Given the description of an element on the screen output the (x, y) to click on. 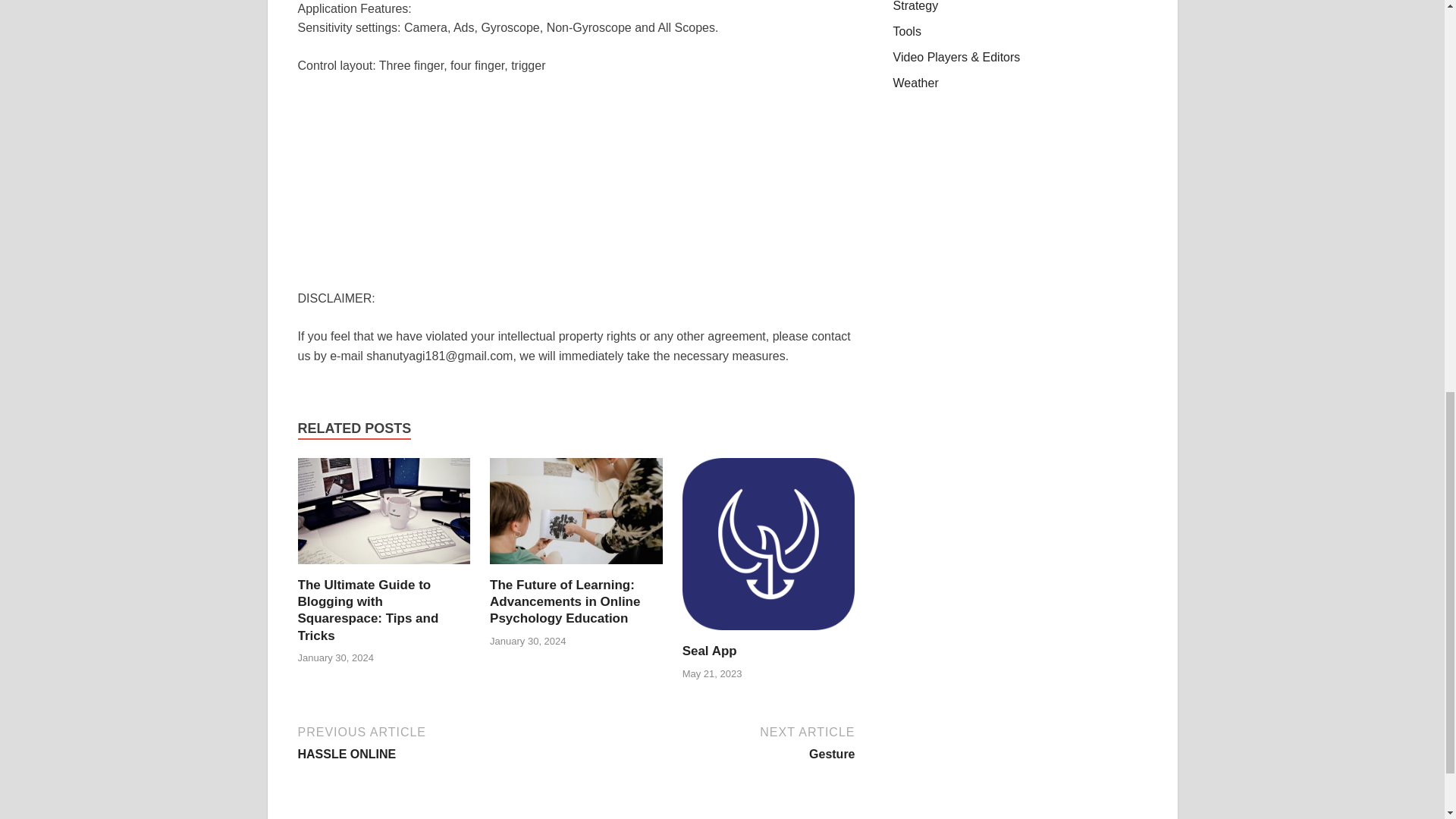
Seal App (709, 650)
Seal App (717, 741)
Seal App (709, 650)
